Given the description of an element on the screen output the (x, y) to click on. 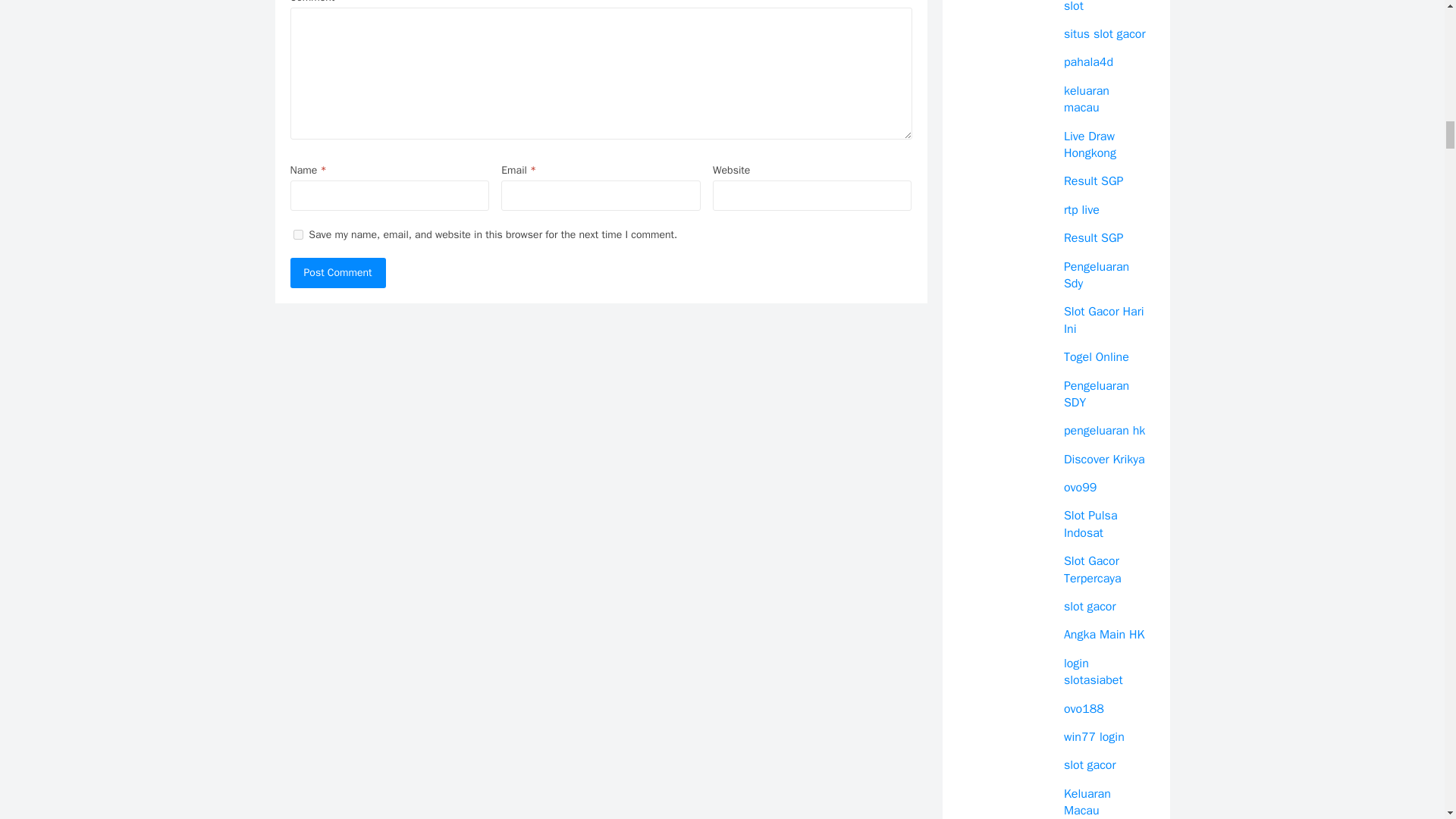
Post Comment (337, 272)
Post Comment (337, 272)
yes (297, 234)
